Given the description of an element on the screen output the (x, y) to click on. 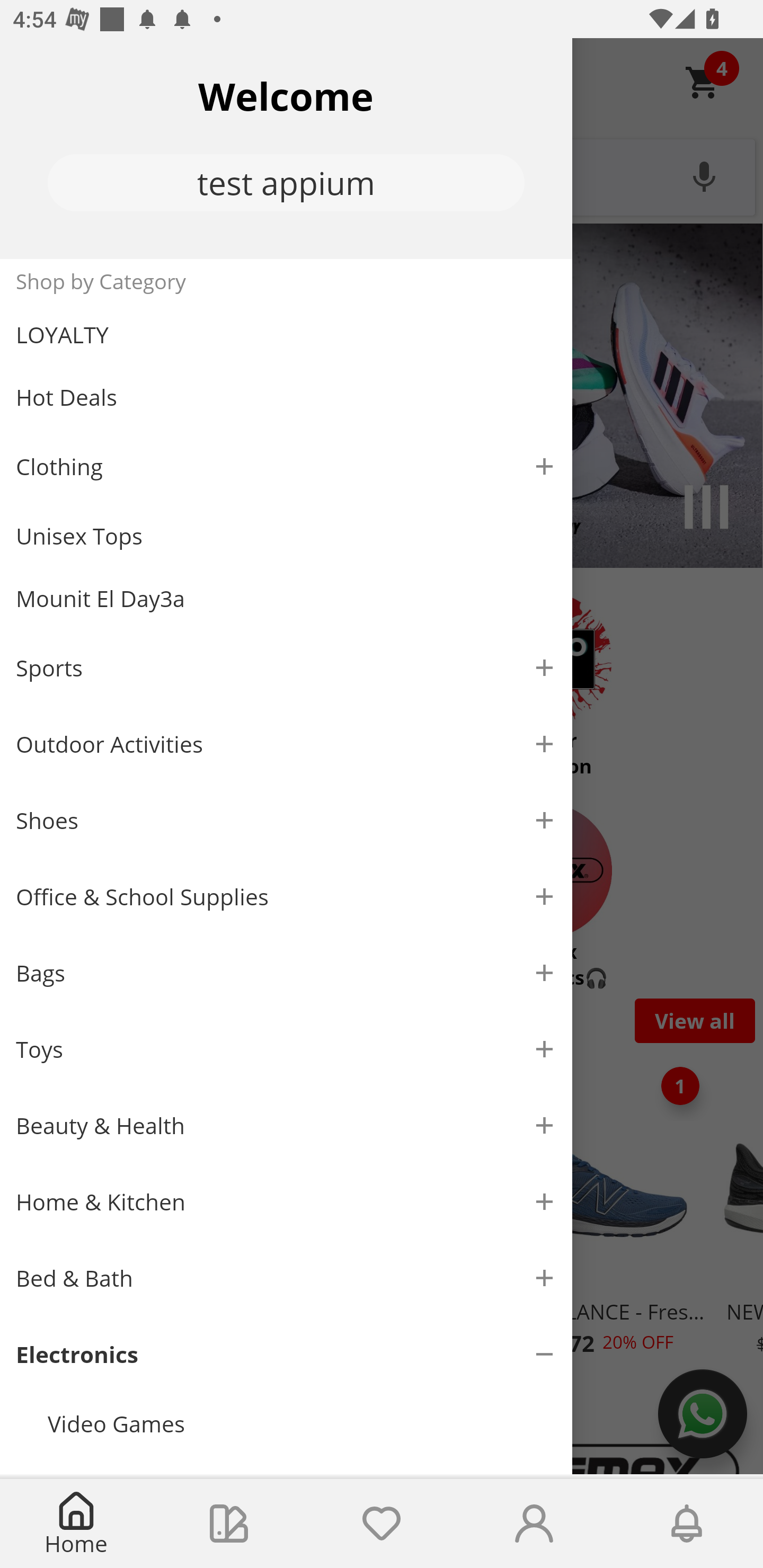
Welcome test appium (286, 147)
What are you looking for? (381, 175)
LOYALTY (286, 334)
Hot Deals (286, 396)
Clothing (286, 466)
Unisex Tops (286, 535)
Mounit El Day3a (286, 598)
Sports (286, 667)
Outdoor Activities (286, 743)
Shoes (286, 820)
Office & School Supplies (286, 896)
Bags (286, 972)
Toys (286, 1049)
Beauty & Health (286, 1125)
Home & Kitchen (286, 1201)
Bed & Bath (286, 1278)
Electronics Video Games Ipads & Tablets (286, 1395)
Video Games (302, 1423)
Collections (228, 1523)
Wishlist (381, 1523)
Account (533, 1523)
Notifications (686, 1523)
